Given the description of an element on the screen output the (x, y) to click on. 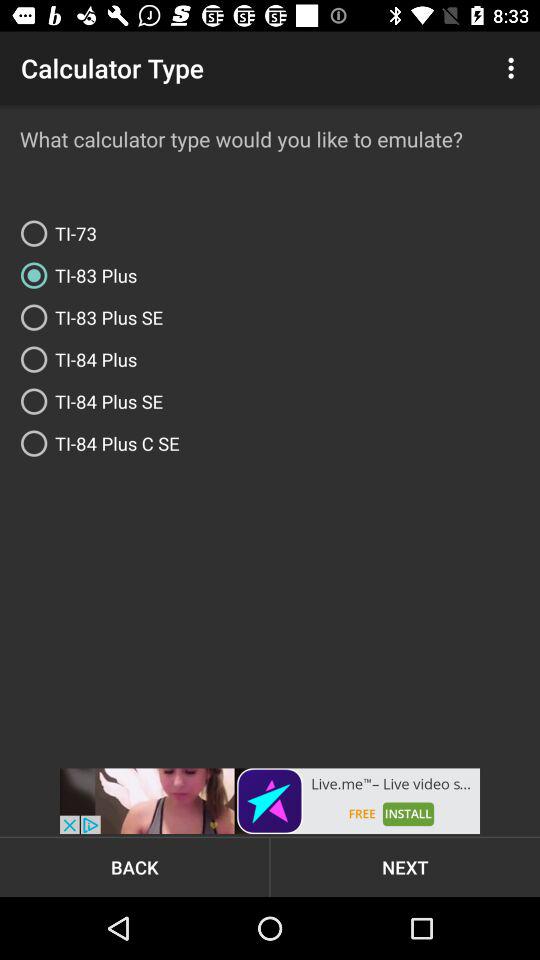
irrelevant advertisement (270, 801)
